Given the description of an element on the screen output the (x, y) to click on. 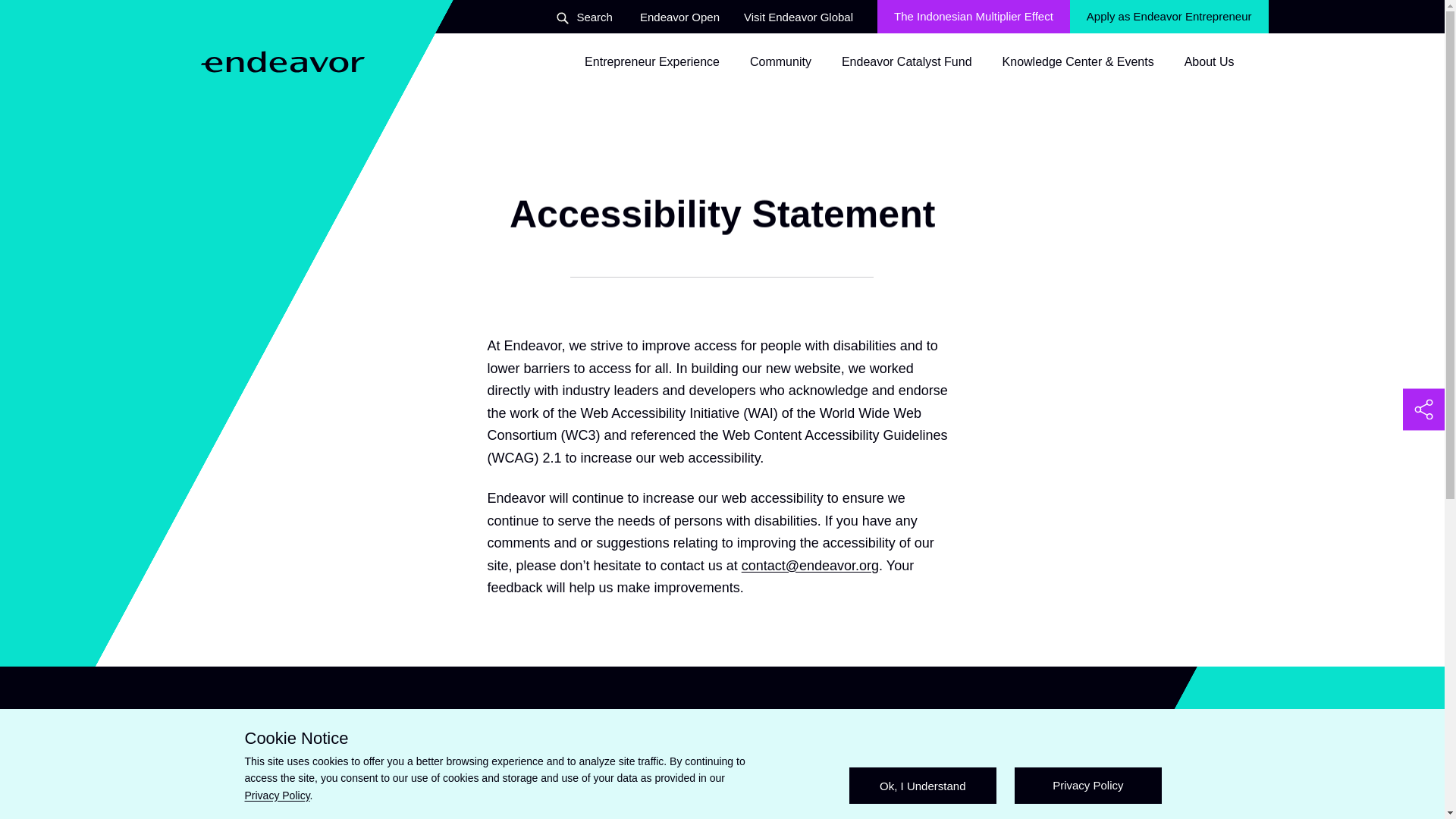
The Indonesian Multiplier Effect (679, 16)
Visit Endeavor Global (1169, 16)
